Given the description of an element on the screen output the (x, y) to click on. 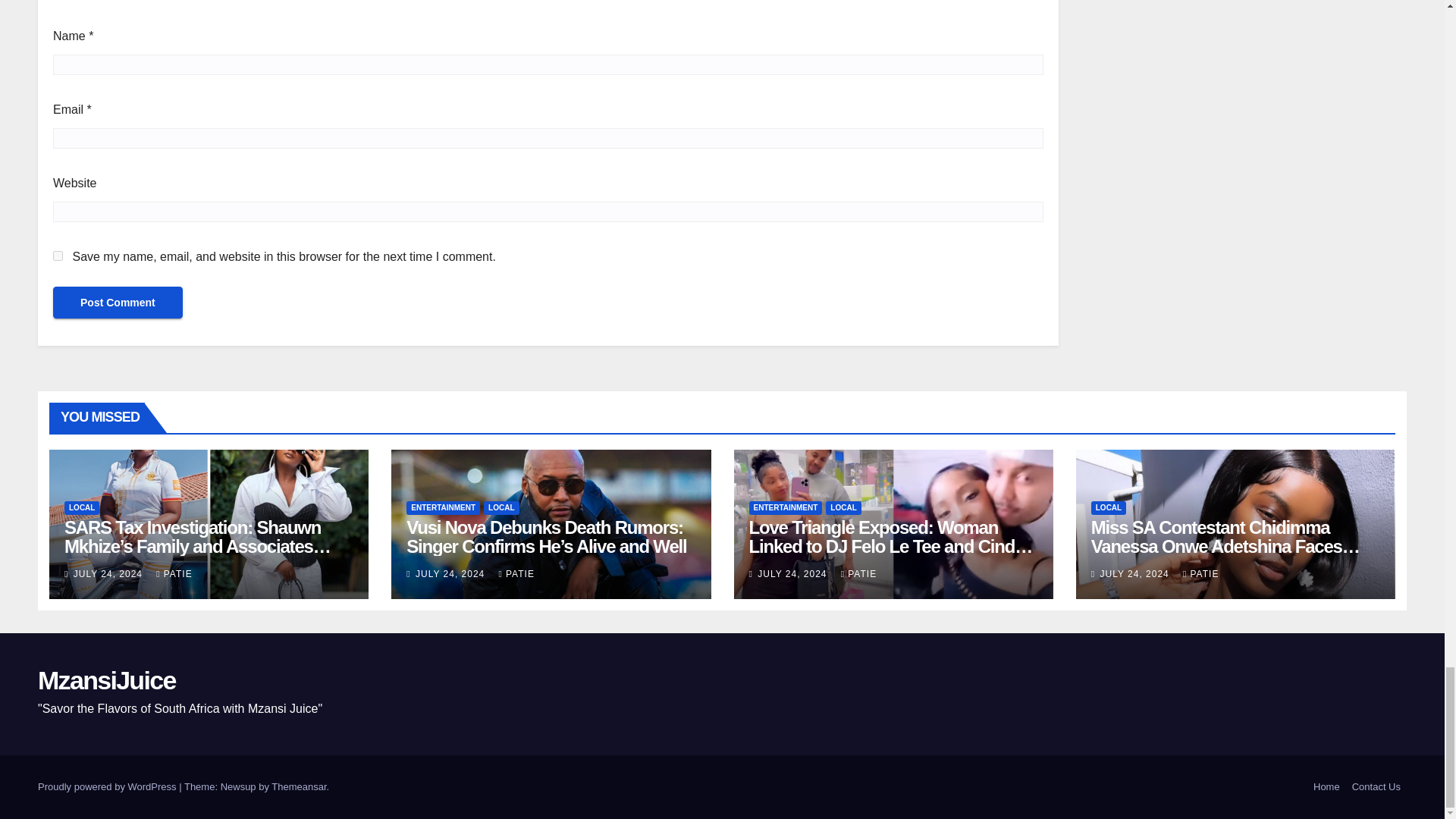
yes (57, 255)
Post Comment (117, 302)
Home (1326, 786)
